Given the description of an element on the screen output the (x, y) to click on. 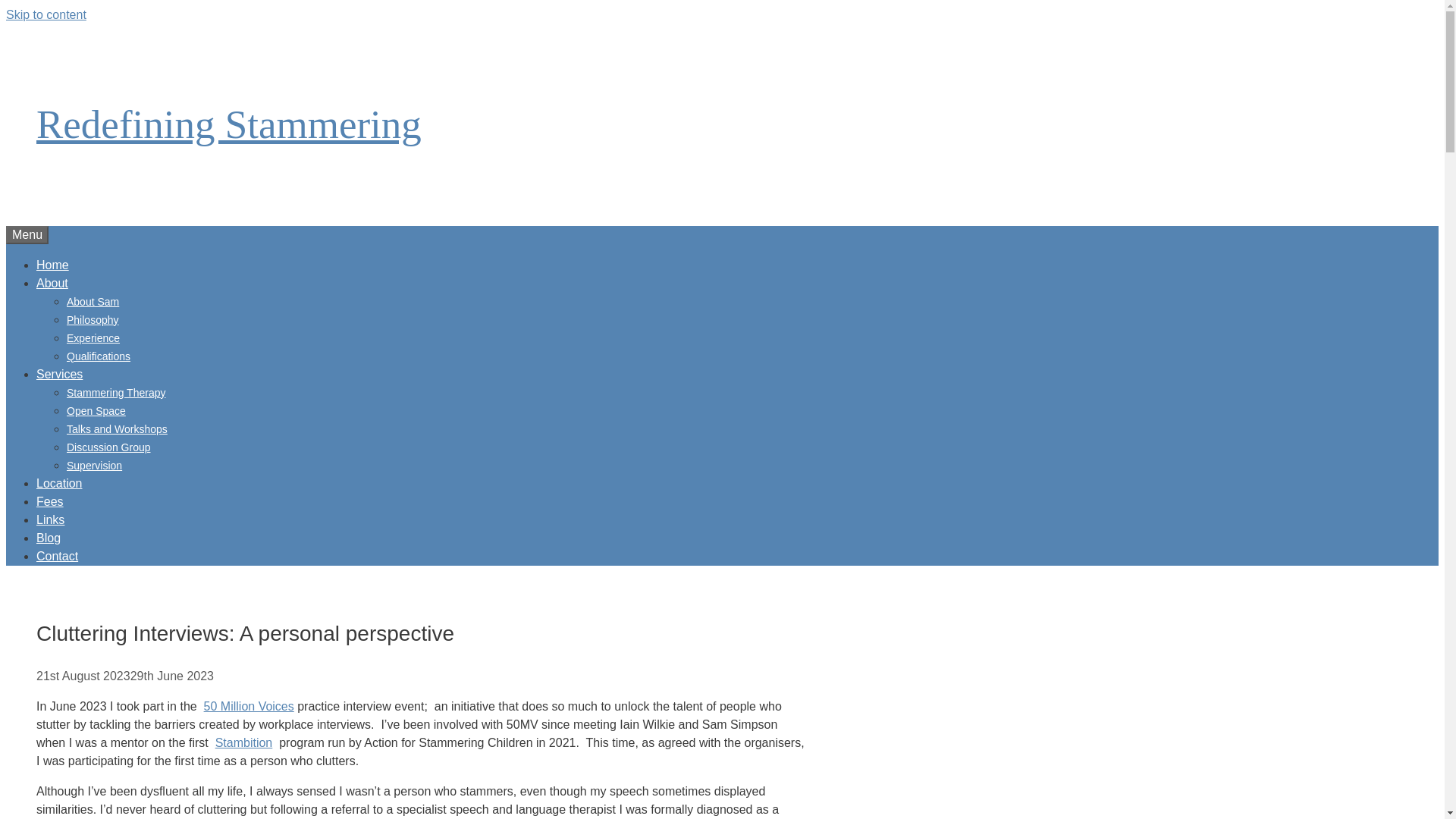
Blog (48, 536)
Stambition (244, 742)
About Sam (92, 301)
Menu (26, 235)
Discussion Group (108, 447)
Skip to content (45, 14)
Experience (92, 337)
Location (59, 481)
Philosophy (92, 319)
Supervision (94, 465)
Contact (57, 554)
Redefining Stammering (229, 124)
Qualifications (98, 356)
About (52, 282)
50 Million Voices (248, 706)
